Given the description of an element on the screen output the (x, y) to click on. 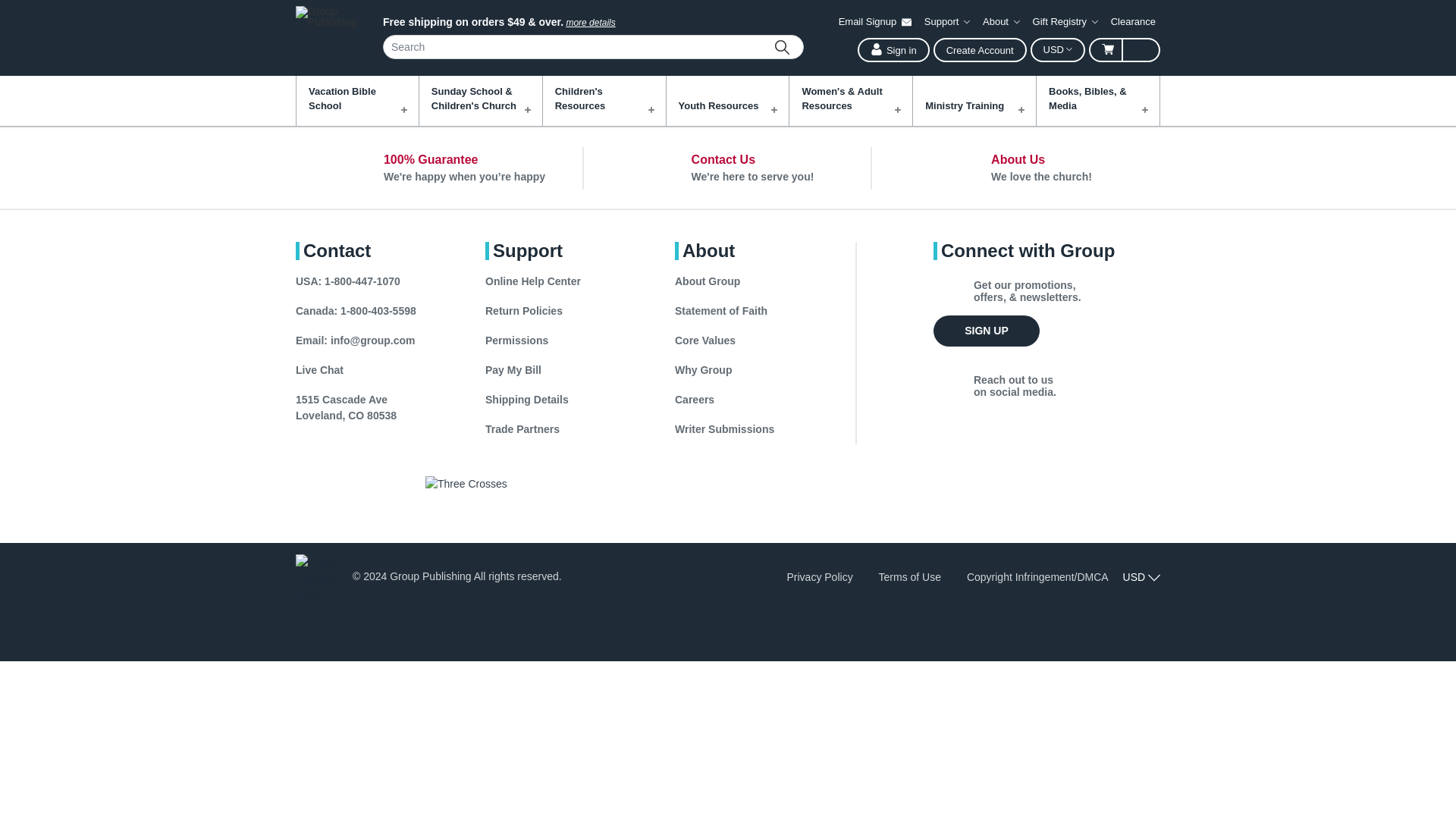
more details (590, 22)
Clearance (1133, 21)
Select Currency: USD (1057, 49)
Create Account (979, 50)
Sign in (893, 50)
Vacation Bible School (358, 101)
Gift Registry (1064, 21)
About (1001, 21)
Email Signup (874, 21)
USD (1057, 49)
